Given the description of an element on the screen output the (x, y) to click on. 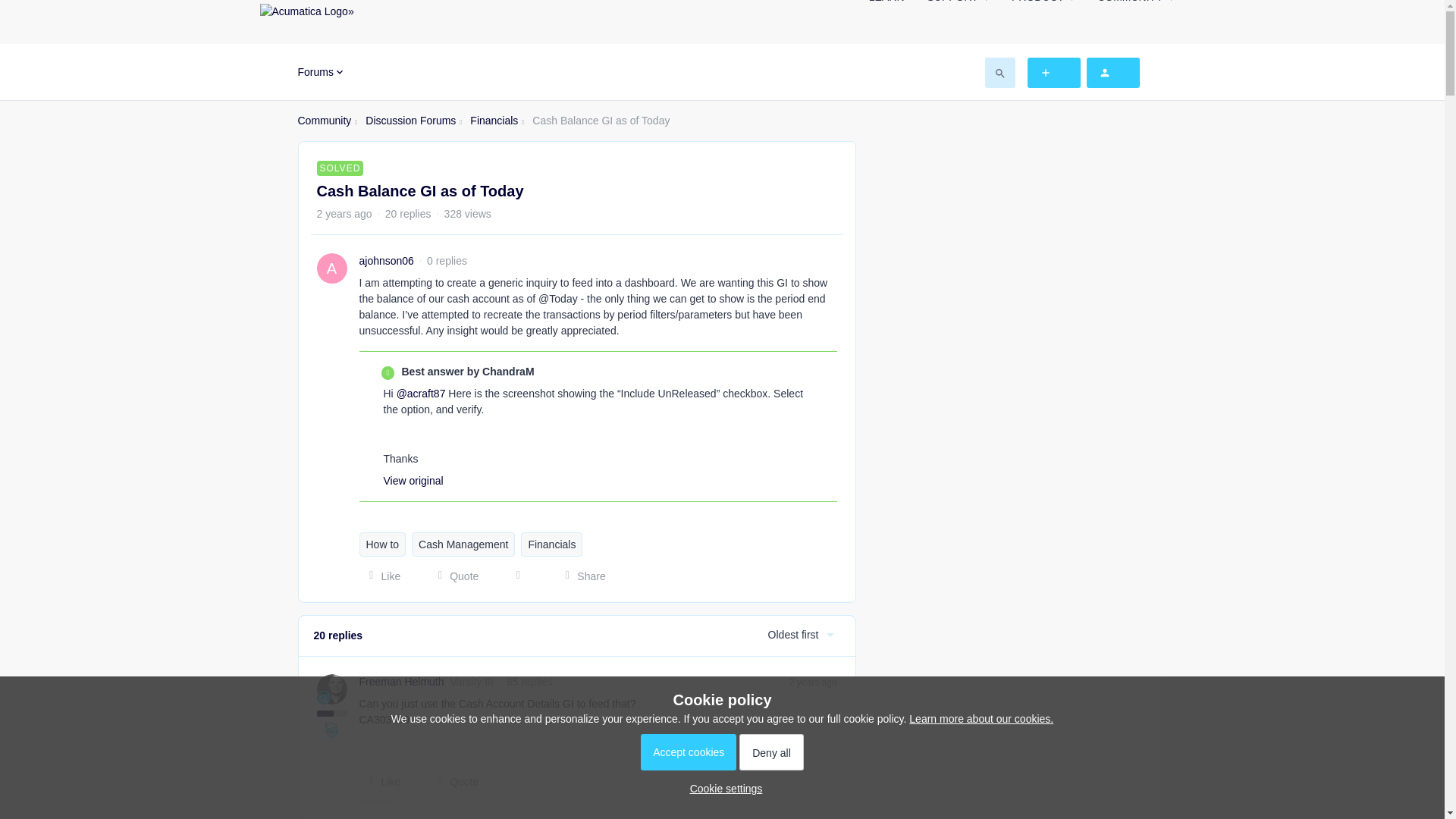
PRODUCT (1042, 6)
COMMUNITY (1135, 6)
LEARN (886, 6)
SUPPORT (957, 6)
Forums (321, 71)
